Given the description of an element on the screen output the (x, y) to click on. 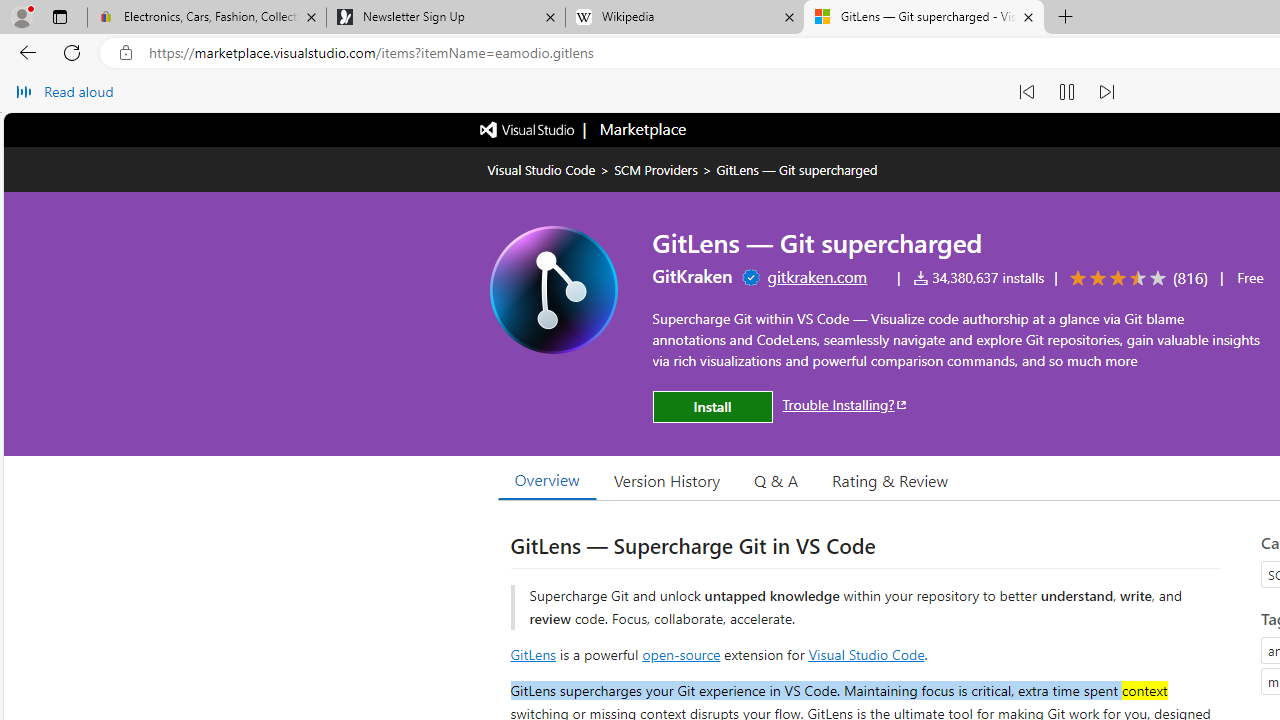
Q & A (776, 479)
Install (712, 406)
Average rating: 3.7 out of 5. Navigate to user reviews. (1135, 278)
Visual Studio logo (528, 128)
GitLens (532, 653)
Read next paragraph (1105, 92)
Read previous paragraph (1026, 92)
Newsletter Sign Up (445, 17)
Overview (546, 479)
Rating & Review (890, 479)
